Given the description of an element on the screen output the (x, y) to click on. 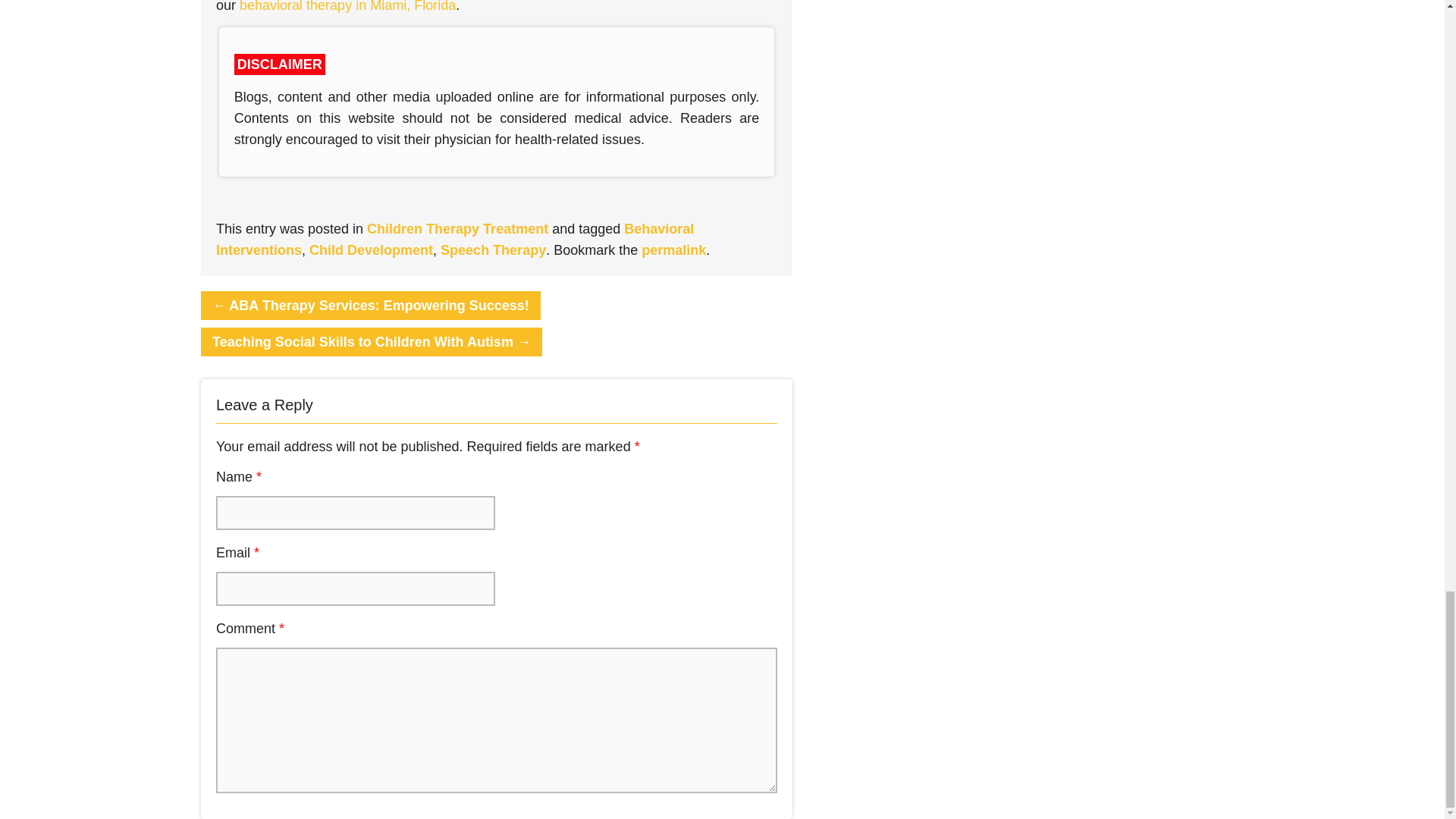
Speech Therapy (493, 249)
Behavioral Interventions (454, 238)
permalink (674, 249)
Child Development (370, 249)
Permalink to Is ABA Therapy Right for Your Child? (674, 249)
behavioral therapy in Miami, Florida (347, 6)
Children Therapy Treatment (457, 227)
